Given the description of an element on the screen output the (x, y) to click on. 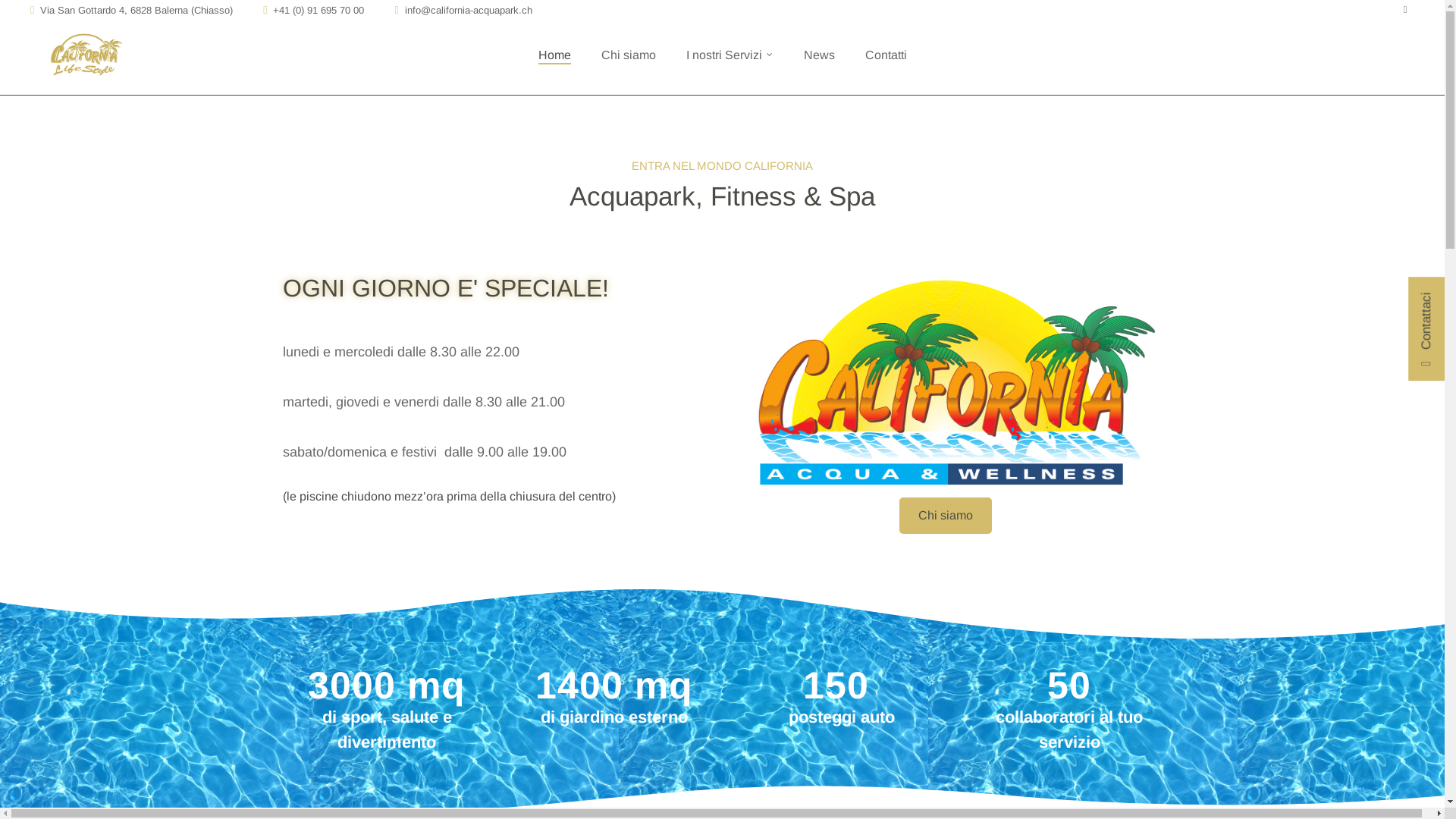
I nostri Servizi Element type: text (728, 54)
News Element type: text (819, 54)
Contatti Element type: text (885, 54)
Facebook Element type: hover (1405, 9)
info@california-acquapark.ch Element type: text (468, 9)
Chi siamo Element type: text (945, 515)
California Acquapark Element type: hover (87, 56)
Chi siamo Element type: text (627, 54)
Home Element type: text (554, 54)
